Given the description of an element on the screen output the (x, y) to click on. 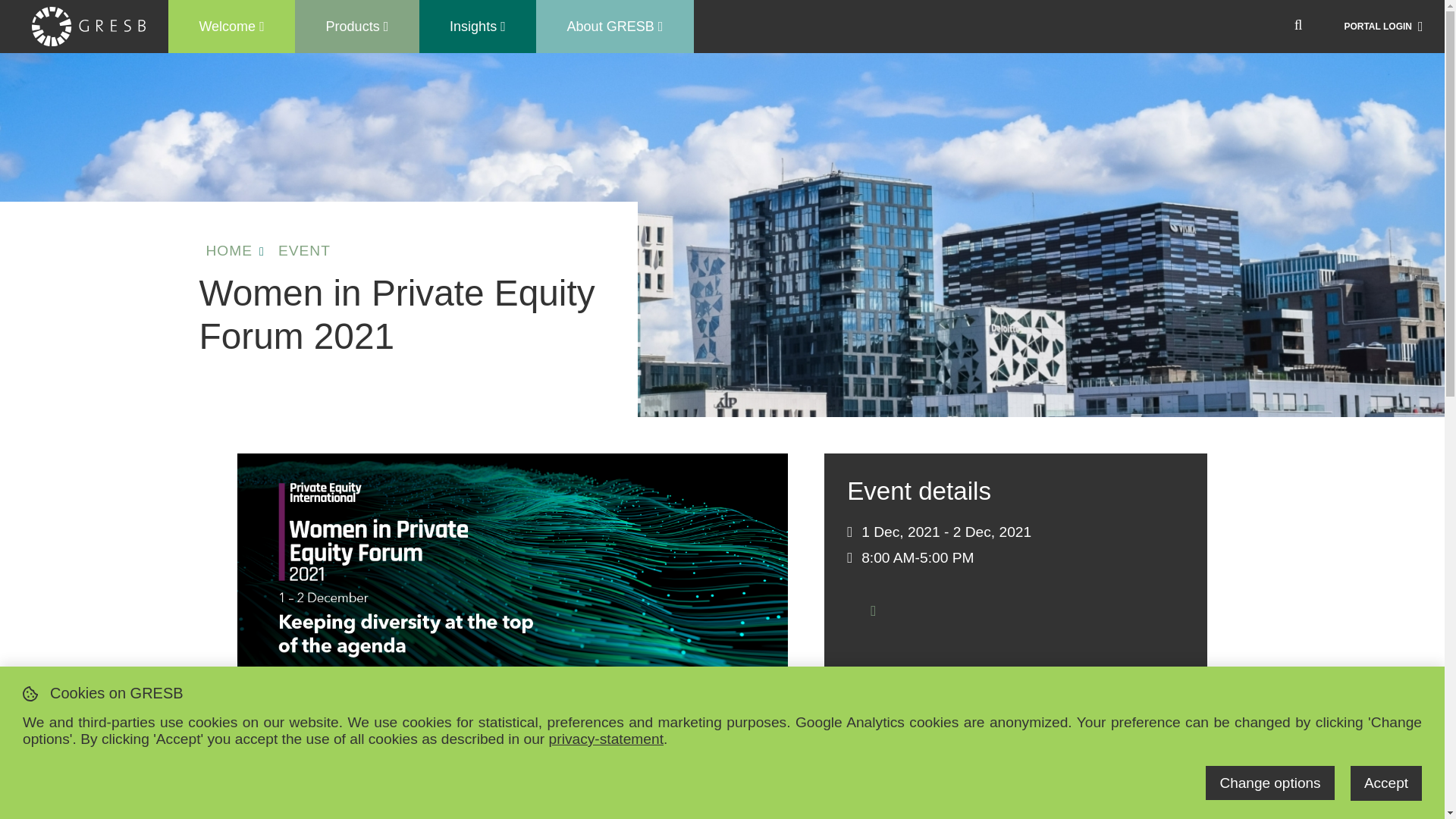
Products (356, 25)
Insights (478, 25)
Welcome (231, 25)
GRESB (88, 25)
